Given the description of an element on the screen output the (x, y) to click on. 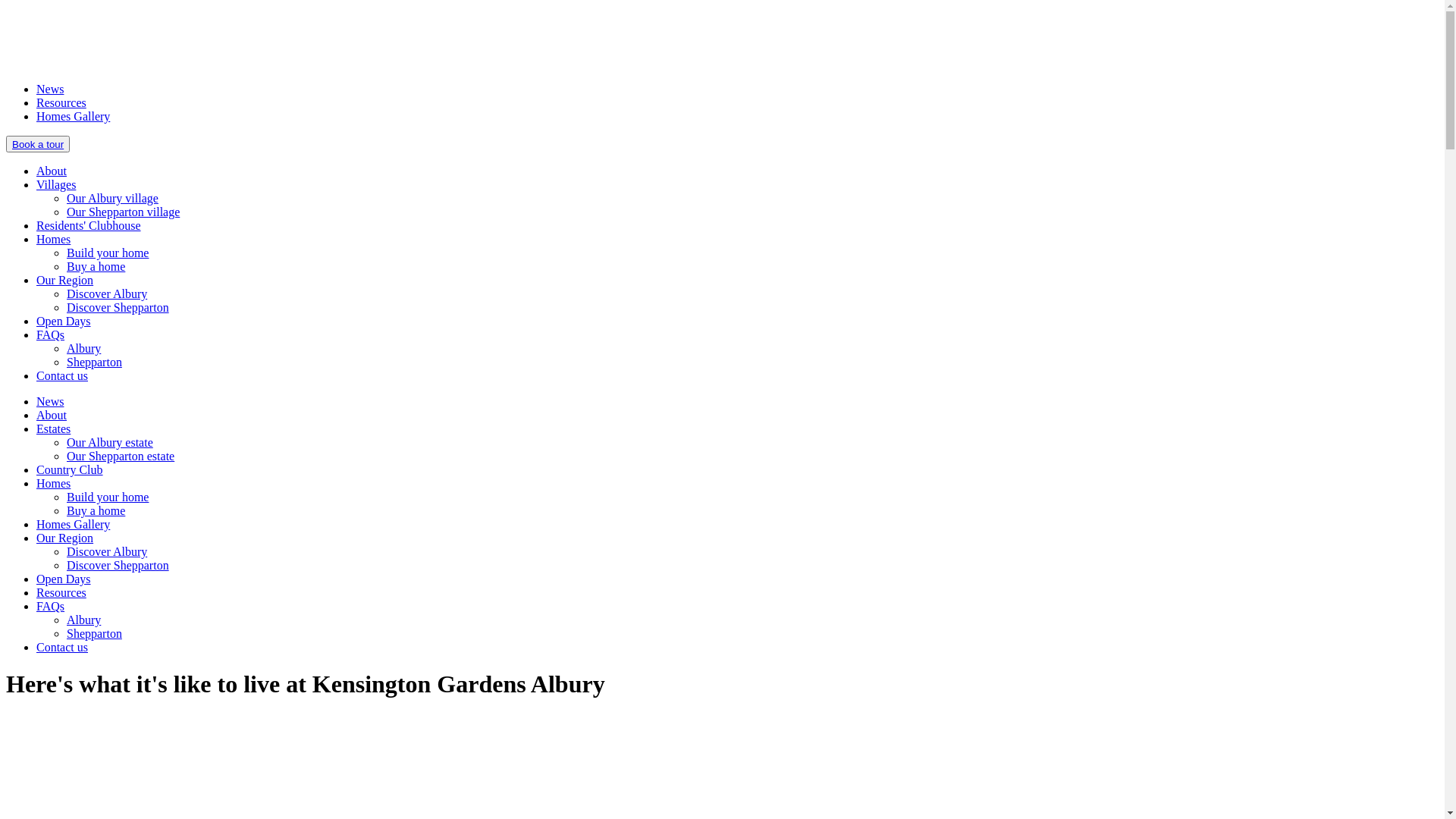
Discover Shepparton Element type: text (117, 307)
News Element type: text (49, 88)
Shepparton Element type: text (94, 633)
About Element type: text (51, 170)
Contact us Element type: text (61, 646)
Our Region Element type: text (64, 537)
News Element type: text (49, 401)
Our Shepparton estate Element type: text (120, 455)
Residents' Clubhouse Element type: text (88, 225)
FAQs Element type: text (50, 605)
Build your home Element type: text (107, 496)
Our Albury estate Element type: text (109, 442)
Our Albury village Element type: text (112, 197)
Resources Element type: text (61, 102)
Villages Element type: text (55, 184)
Country Club Element type: text (69, 469)
Buy a home Element type: text (95, 510)
About Element type: text (51, 414)
Open Days Element type: text (63, 578)
Discover Albury Element type: text (106, 551)
Albury Element type: text (83, 348)
Resources Element type: text (61, 592)
Homes Gallery Element type: text (72, 523)
Open Days Element type: text (63, 320)
Homes Element type: text (53, 238)
Book a tour Element type: text (37, 144)
Albury Element type: text (83, 619)
Estates Element type: text (53, 428)
Discover Albury Element type: text (106, 293)
Buy a home Element type: text (95, 266)
Build your home Element type: text (107, 252)
Homes Gallery Element type: text (72, 115)
FAQs Element type: text (50, 334)
Homes Element type: text (53, 482)
Book a tour Element type: text (37, 143)
Contact us Element type: text (61, 375)
Discover Shepparton Element type: text (117, 564)
Our Region Element type: text (64, 279)
Shepparton Element type: text (94, 361)
Our Shepparton village Element type: text (122, 211)
